Given the description of an element on the screen output the (x, y) to click on. 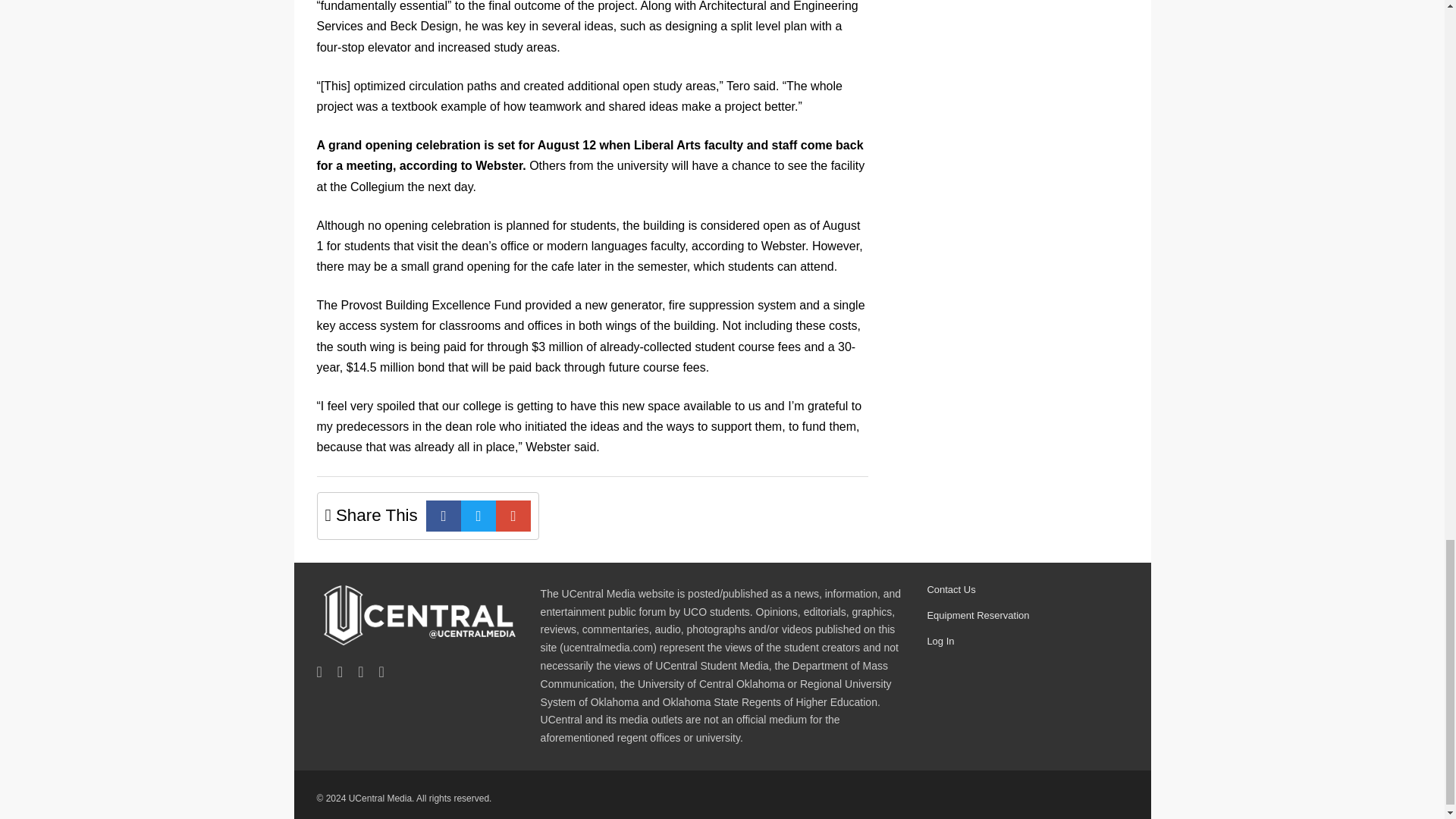
Facebook (443, 515)
Twitter (478, 515)
E-mail (513, 515)
